Given the description of an element on the screen output the (x, y) to click on. 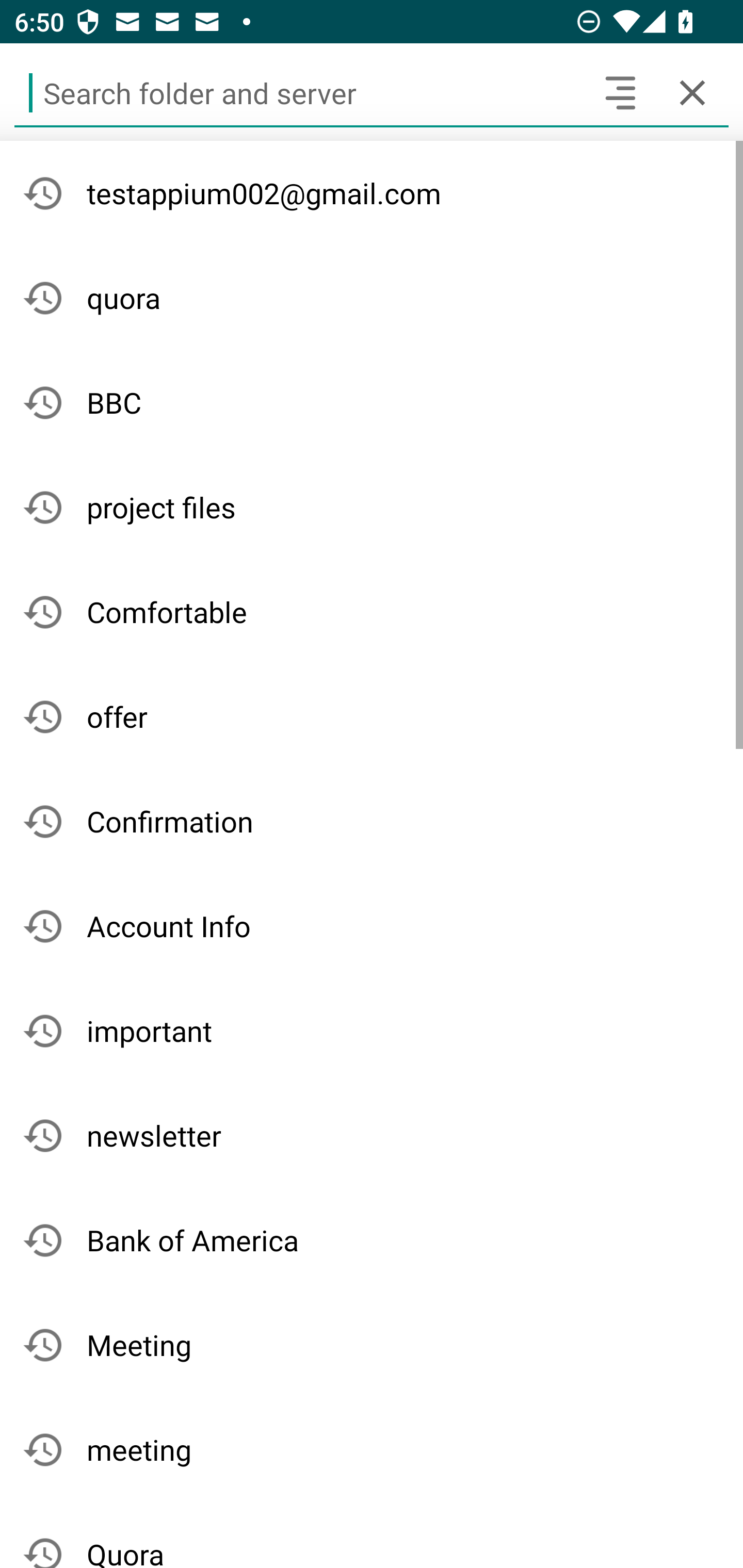
   Search folder and server (298, 92)
Search headers and text (619, 92)
Cancel (692, 92)
